Given the description of an element on the screen output the (x, y) to click on. 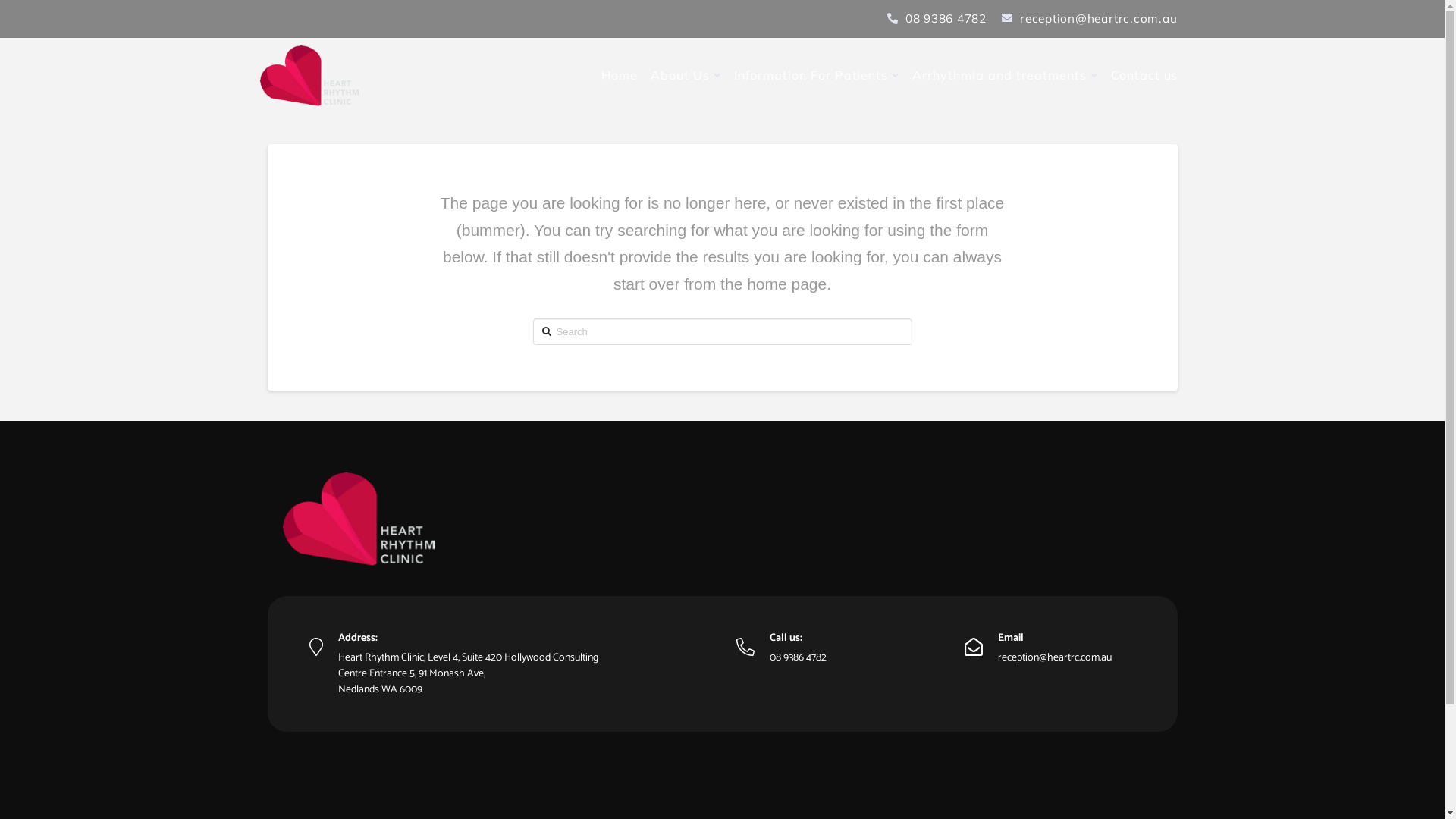
reception@heartrc.com.au Element type: text (1088, 18)
About Us Element type: text (685, 74)
Home Element type: text (618, 74)
08 9386 4782 Element type: text (936, 18)
Information For Patients Element type: text (816, 74)
Arrhythmia and treatments Element type: text (1004, 74)
Email
reception@heartrc.com.au Element type: text (1037, 647)
Contact us Element type: text (1144, 74)
Call us:
08 9386 4782 Element type: text (781, 647)
